Given the description of an element on the screen output the (x, y) to click on. 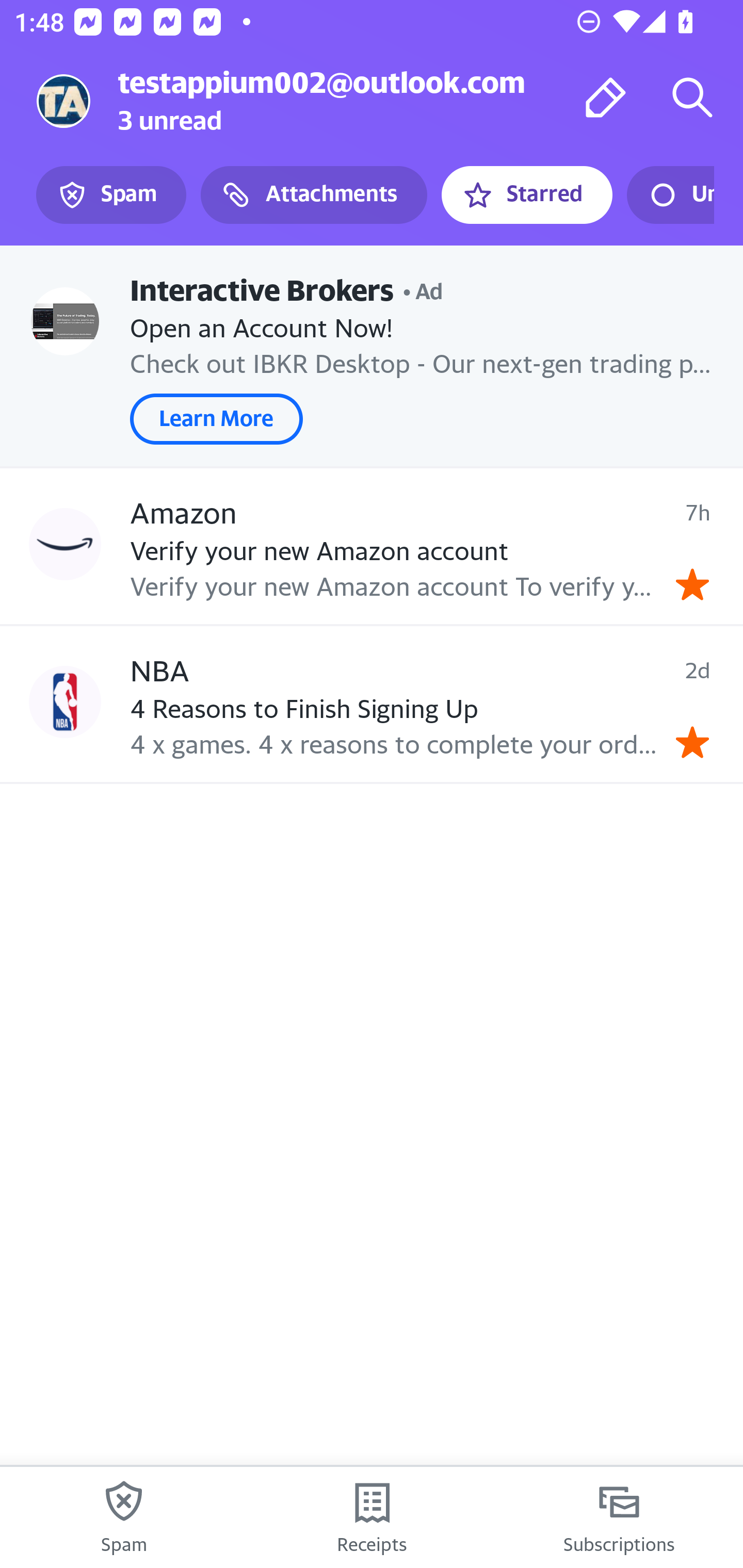
Compose (605, 97)
Search mail (692, 97)
Spam (111, 195)
Attachments (313, 195)
Profile
Amazon (64, 544)
Remove star. (692, 584)
Profile
NBA (64, 702)
Remove star. (692, 742)
Spam (123, 1517)
Receipts (371, 1517)
Subscriptions (619, 1517)
